Given the description of an element on the screen output the (x, y) to click on. 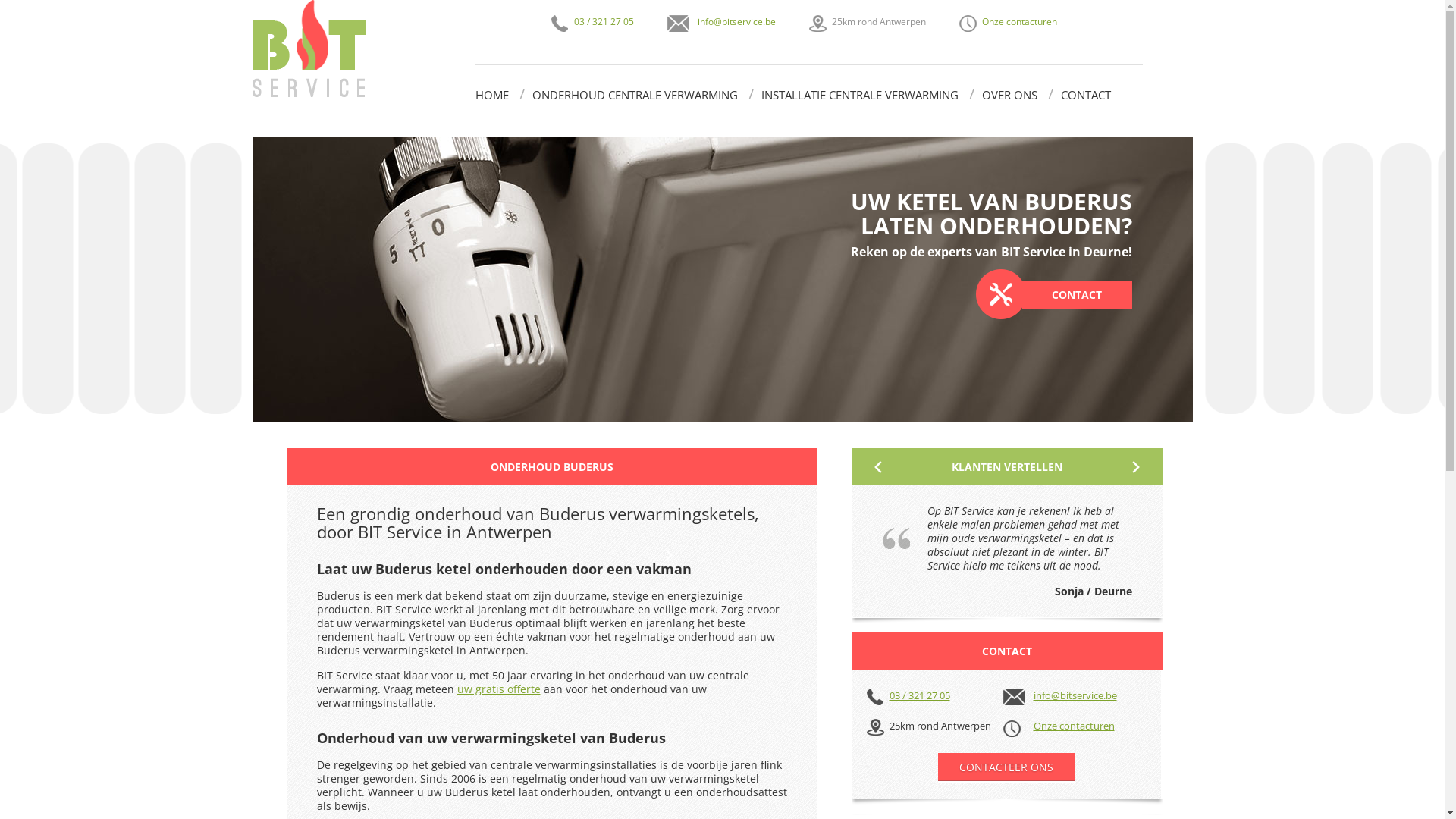
Previous Element type: text (877, 467)
03 / 321 27 05 Element type: text (907, 697)
CONTACT Element type: text (1053, 294)
HOME Element type: text (491, 94)
03 / 321 27 05 Element type: text (591, 24)
info@bitservice.be Element type: text (721, 24)
Onze contacturen Element type: text (1018, 21)
OVER ONS Element type: text (1008, 94)
CONTACT Element type: text (1085, 94)
uw gratis offerte Element type: text (497, 688)
Onze contacturen Element type: text (1072, 725)
CONTACTEER ONS Element type: text (1005, 767)
ONDERHOUD CENTRALE VERWARMING Element type: text (634, 94)
Next Element type: text (1135, 467)
info@bitservice.be Element type: text (1059, 697)
INSTALLATIE CENTRALE VERWARMING Element type: text (859, 94)
